Given the description of an element on the screen output the (x, y) to click on. 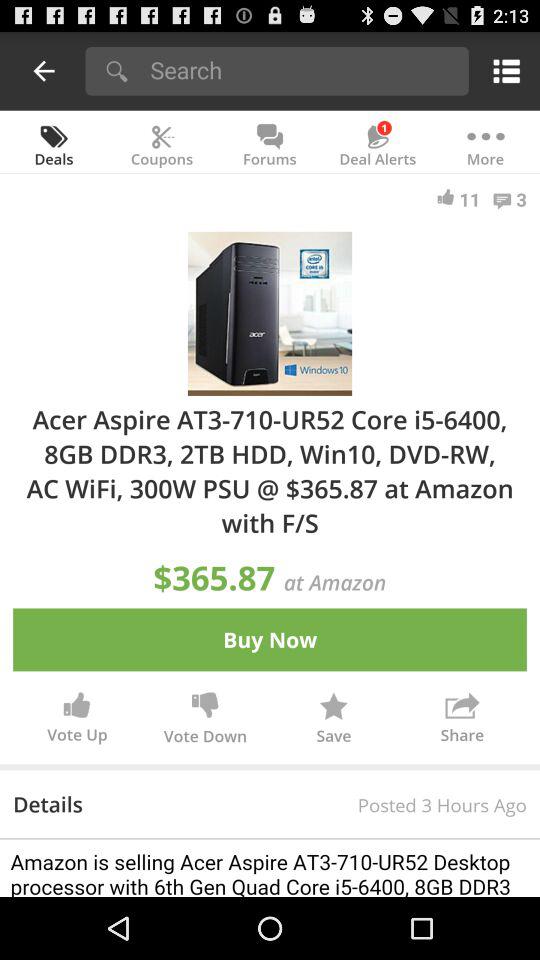
launch icon to the right of save button (462, 721)
